Given the description of an element on the screen output the (x, y) to click on. 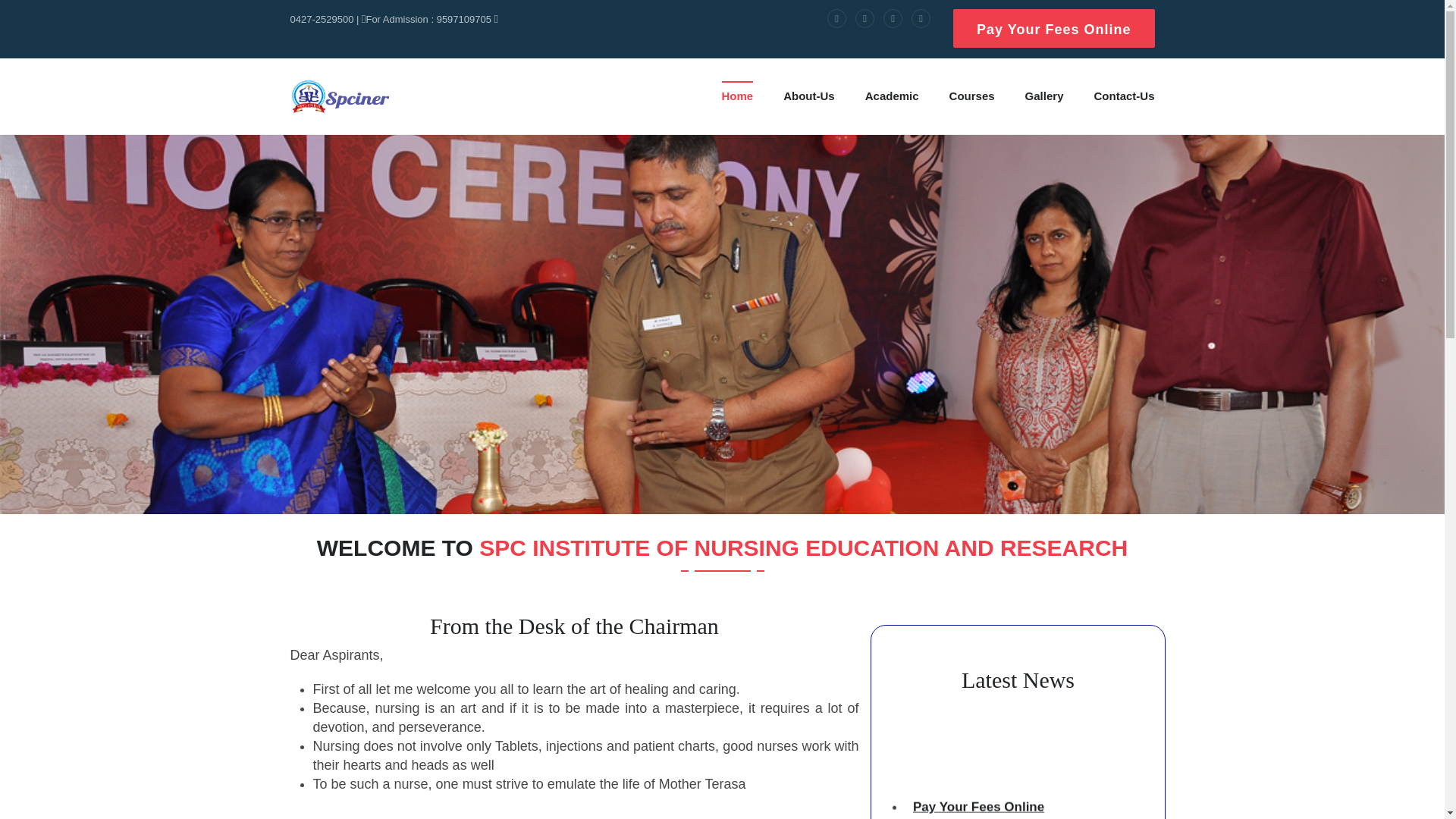
Pay Your Fees Online (1053, 28)
SPC INSTITUTE OF NURSING EDUCATION AND RESEARCH (338, 95)
